Given the description of an element on the screen output the (x, y) to click on. 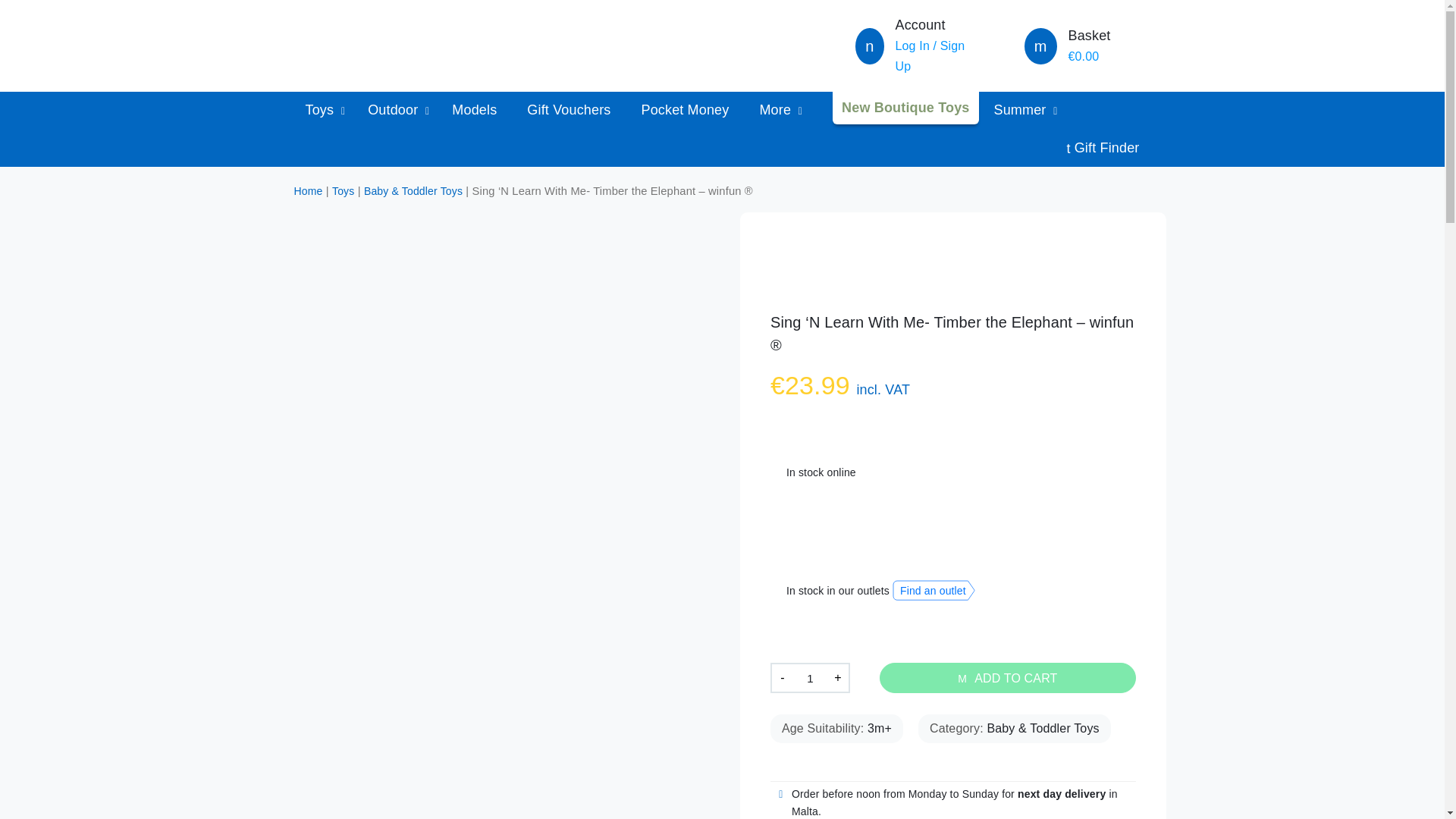
Toys (320, 109)
Outdoor (394, 109)
n (869, 47)
1 (810, 677)
m (1041, 47)
Qty (810, 677)
Find an outlet (933, 589)
